Given the description of an element on the screen output the (x, y) to click on. 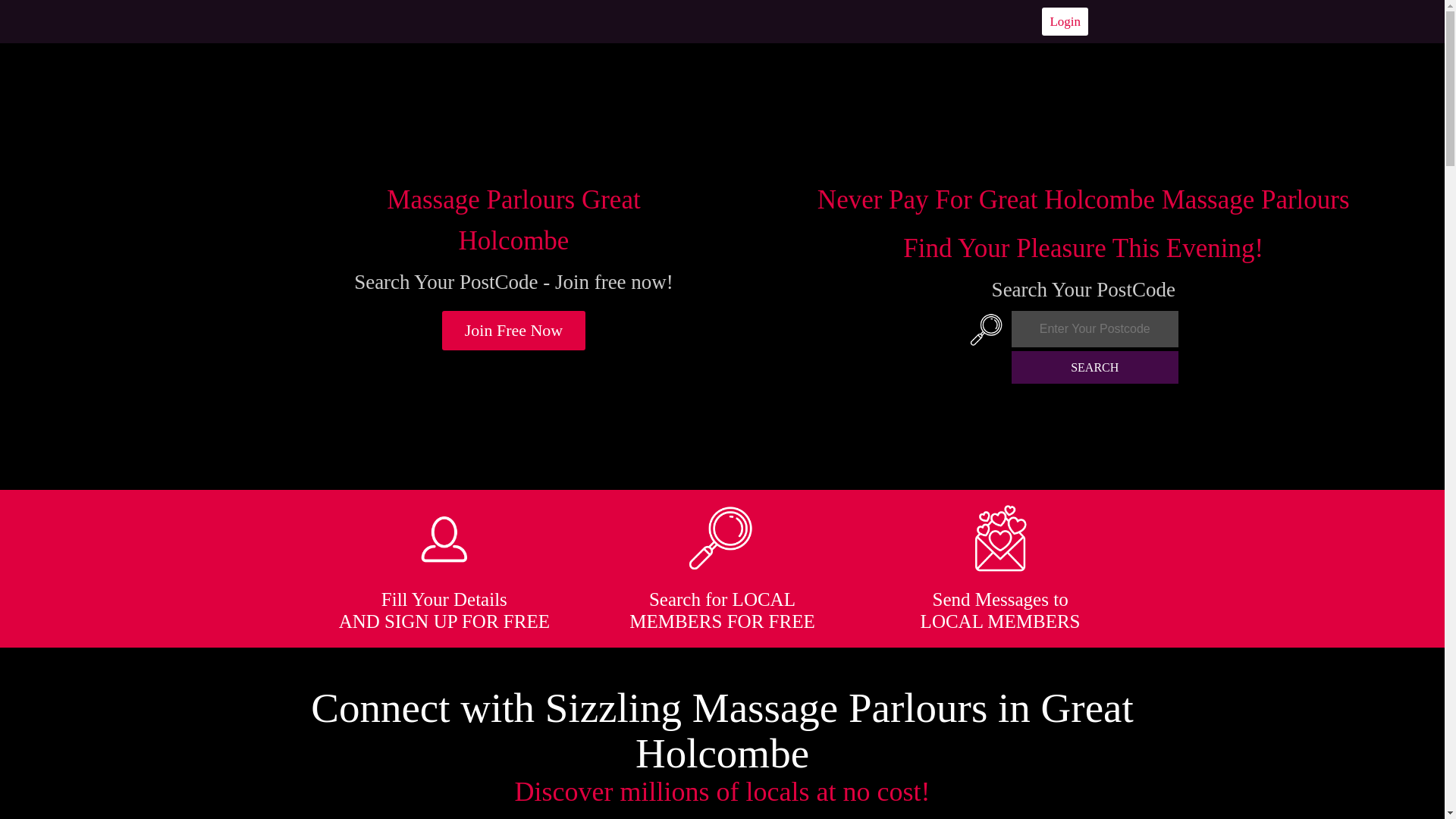
SEARCH (1094, 367)
Join Free Now (514, 330)
Join (514, 330)
Login (1064, 21)
Login (1064, 21)
